Given the description of an element on the screen output the (x, y) to click on. 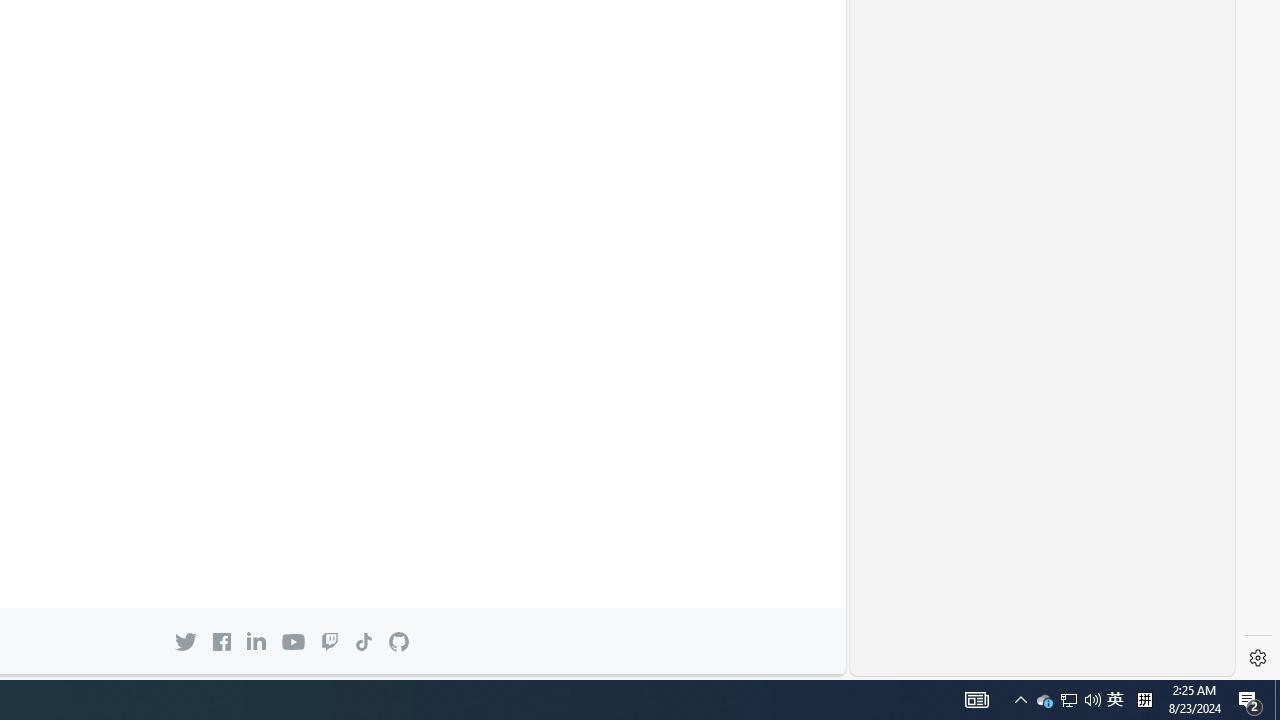
TikTok icon GitHub on TikTok (363, 641)
Twitter icon (186, 641)
Linkedin icon (256, 641)
Facebook icon (221, 641)
YouTube icon (292, 642)
Twitter icon (186, 641)
